Given the description of an element on the screen output the (x, y) to click on. 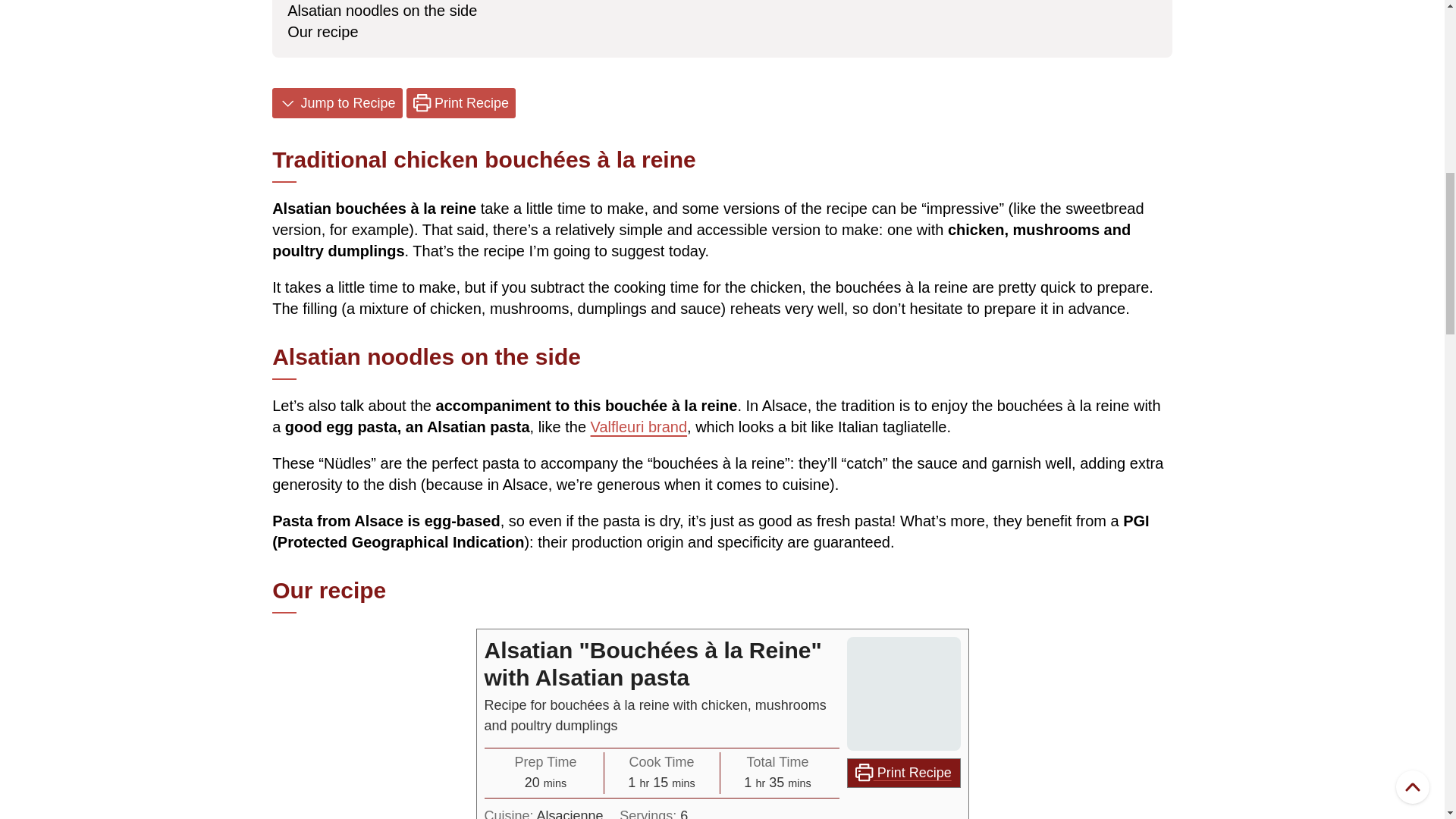
Alsatian noodles on the side (381, 10)
Our recipe (322, 31)
